Given the description of an element on the screen output the (x, y) to click on. 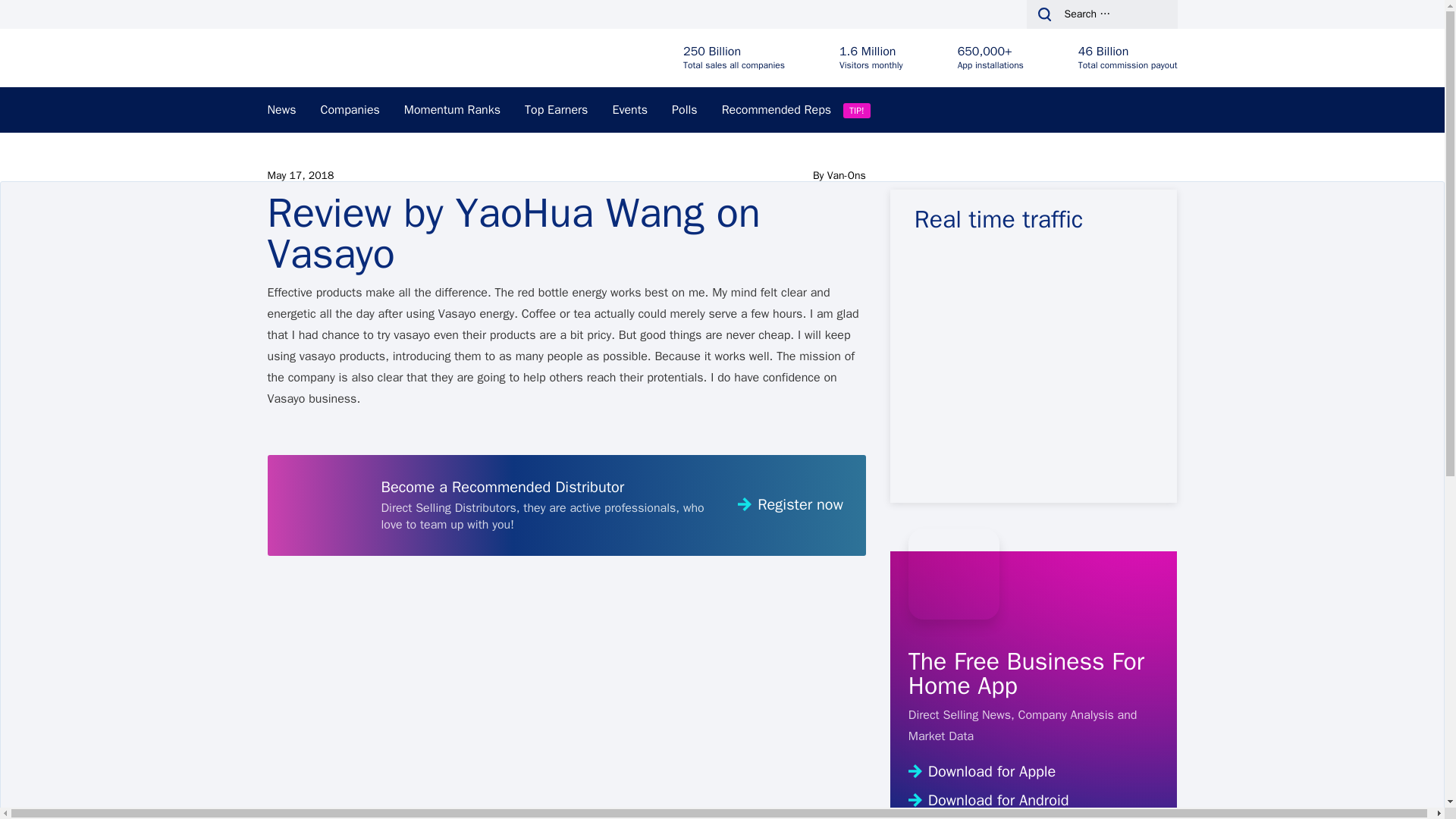
Search (41, 17)
Momentum Ranks (451, 108)
News (280, 108)
Companies (349, 108)
